Given the description of an element on the screen output the (x, y) to click on. 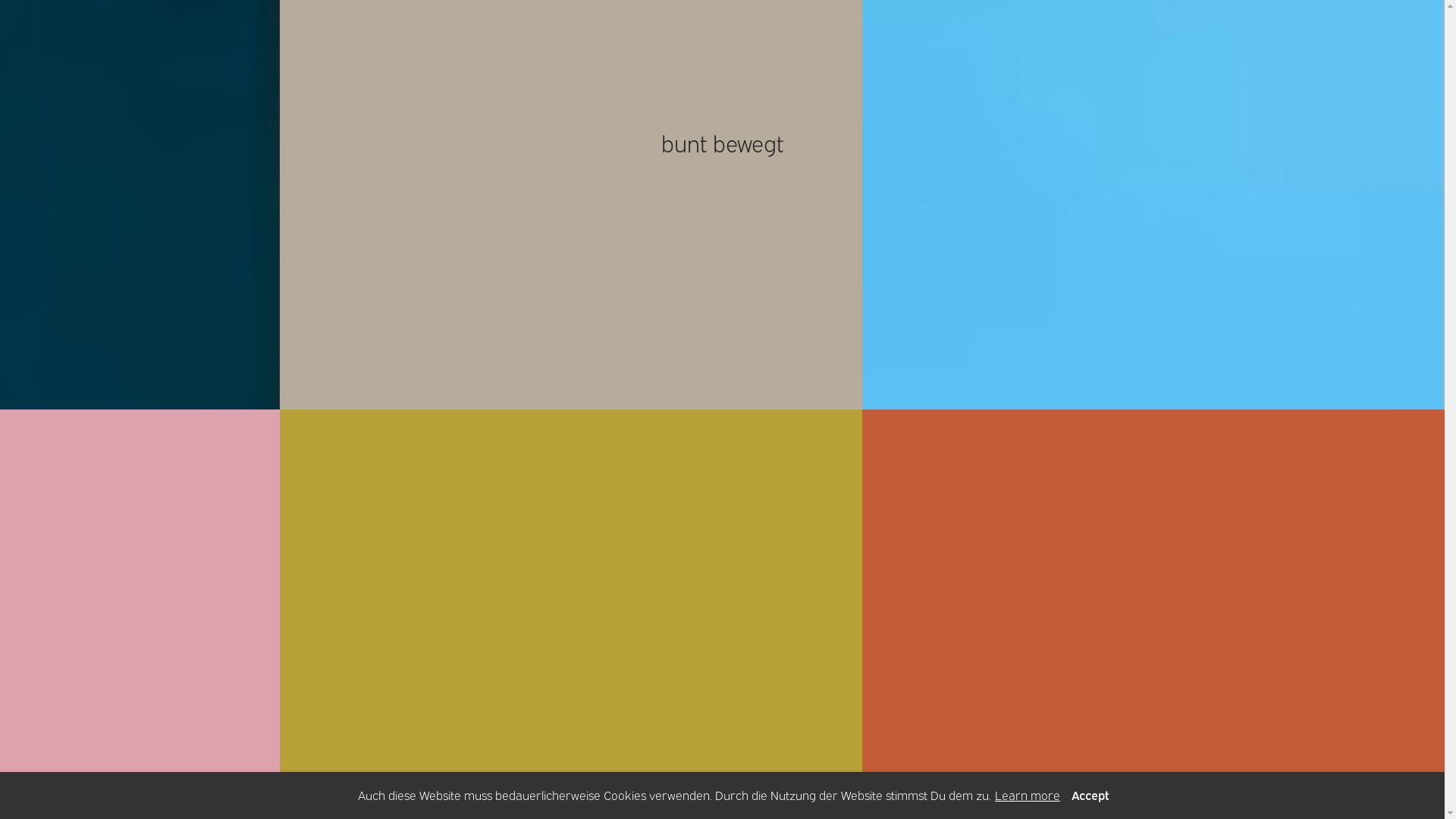
allyou.net Element type: text (1420, 807)
Learn more Element type: text (1027, 795)
BettinaMeuli Element type: text (185, 23)
Accept Element type: text (1090, 795)
